Given the description of an element on the screen output the (x, y) to click on. 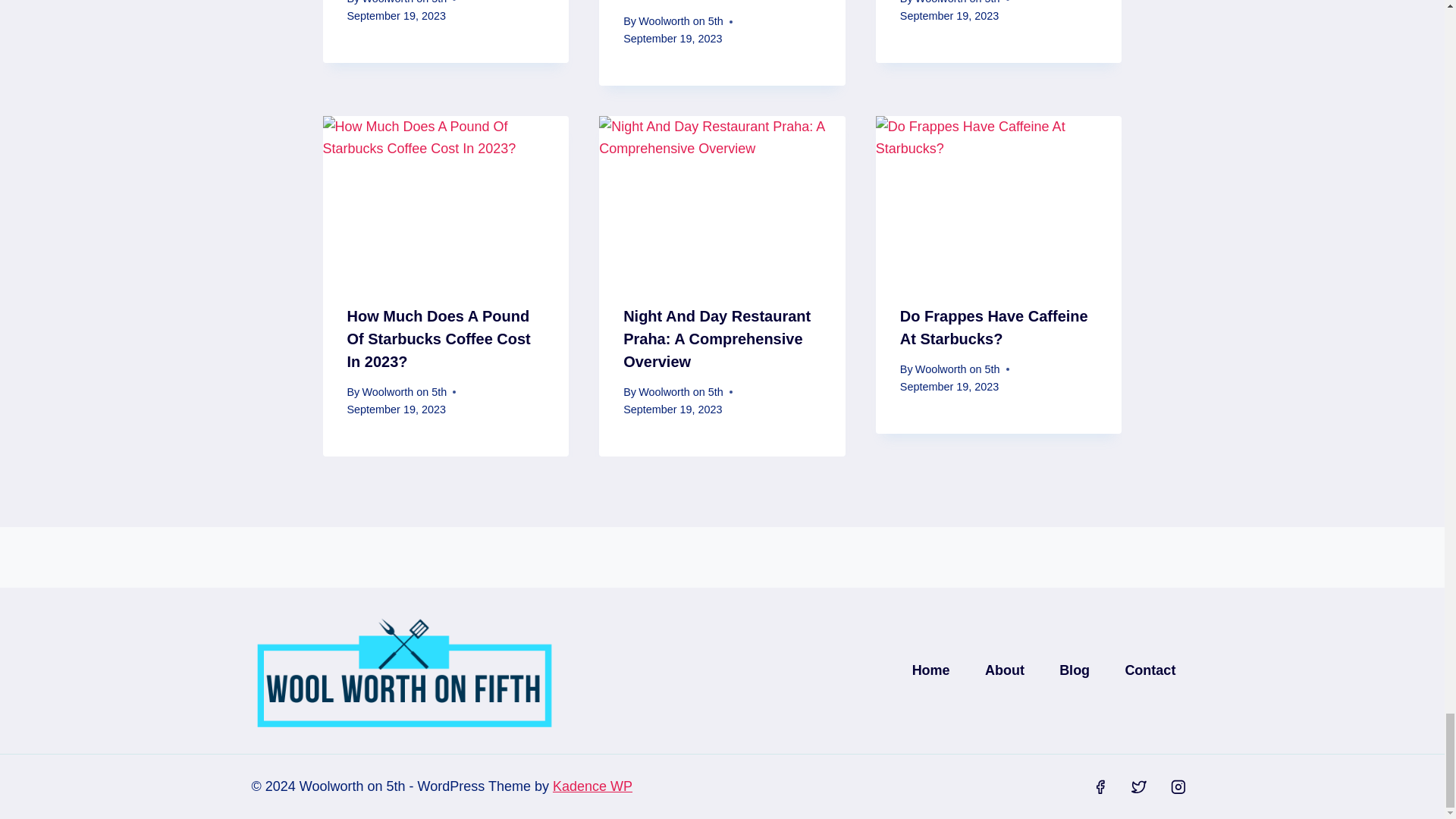
Woolworth on 5th (681, 21)
Woolworth on 5th (957, 2)
Woolworth on 5th (403, 2)
Night And Day Restaurant Praha: A Comprehensive Overview (716, 338)
How Much Does A Pound Of Starbucks Coffee Cost In 2023? (439, 338)
Woolworth on 5th (681, 391)
Woolworth on 5th (403, 391)
